Given the description of an element on the screen output the (x, y) to click on. 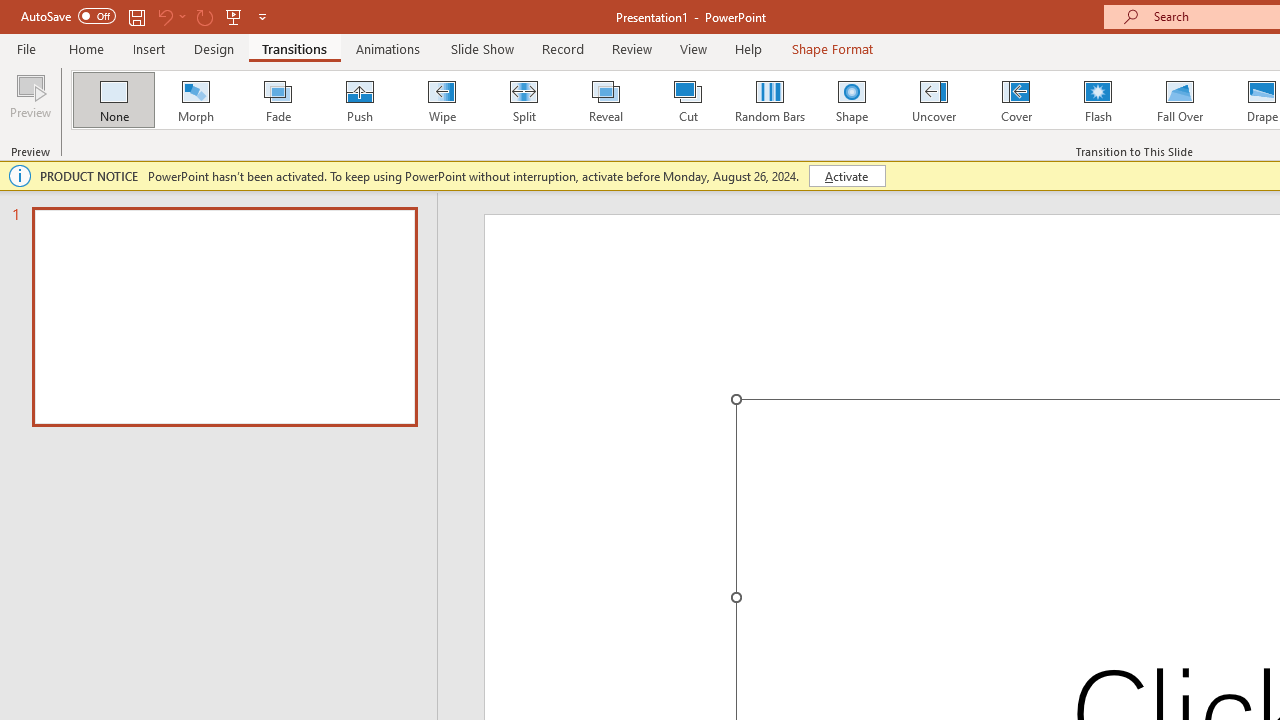
Morph (195, 100)
Wipe (441, 100)
Fall Over (1180, 100)
Flash (1098, 100)
